Given the description of an element on the screen output the (x, y) to click on. 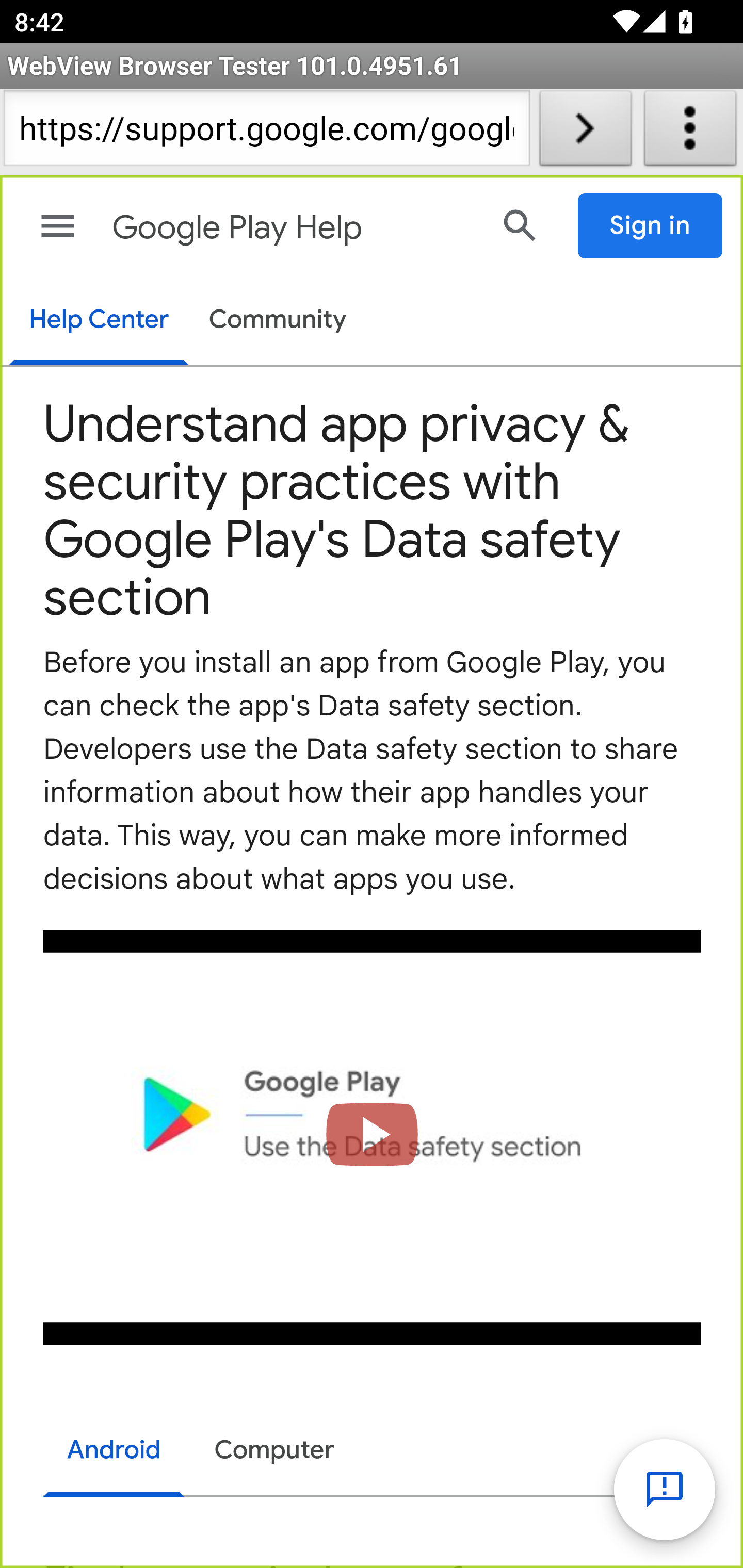
Load URL (585, 132)
About WebView (690, 132)
Main menu (58, 226)
Google Play Help (292, 227)
Search Help Center (519, 225)
Sign in (650, 226)
Help Center (98, 320)
Community (277, 320)
Load video (372, 1137)
Load video (372, 1137)
Android (114, 1452)
Computer (273, 1450)
